Given the description of an element on the screen output the (x, y) to click on. 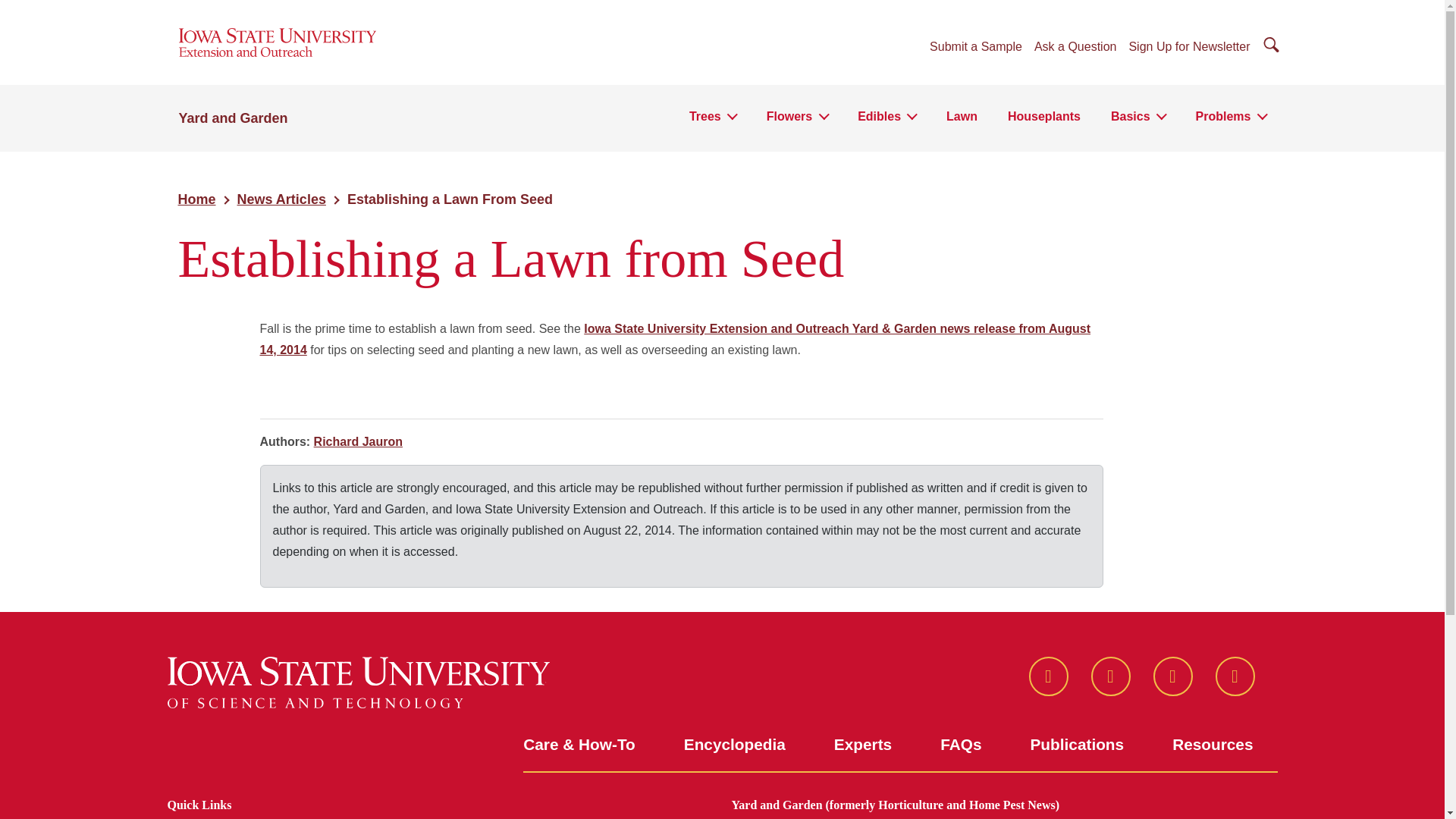
Yard and Garden (233, 118)
Search (14, 14)
Ask a Question (1074, 48)
Sign Up for Newsletter (1188, 48)
Houseplants (1043, 121)
Lawn (961, 121)
Submit a Sample (976, 48)
